Given the description of an element on the screen output the (x, y) to click on. 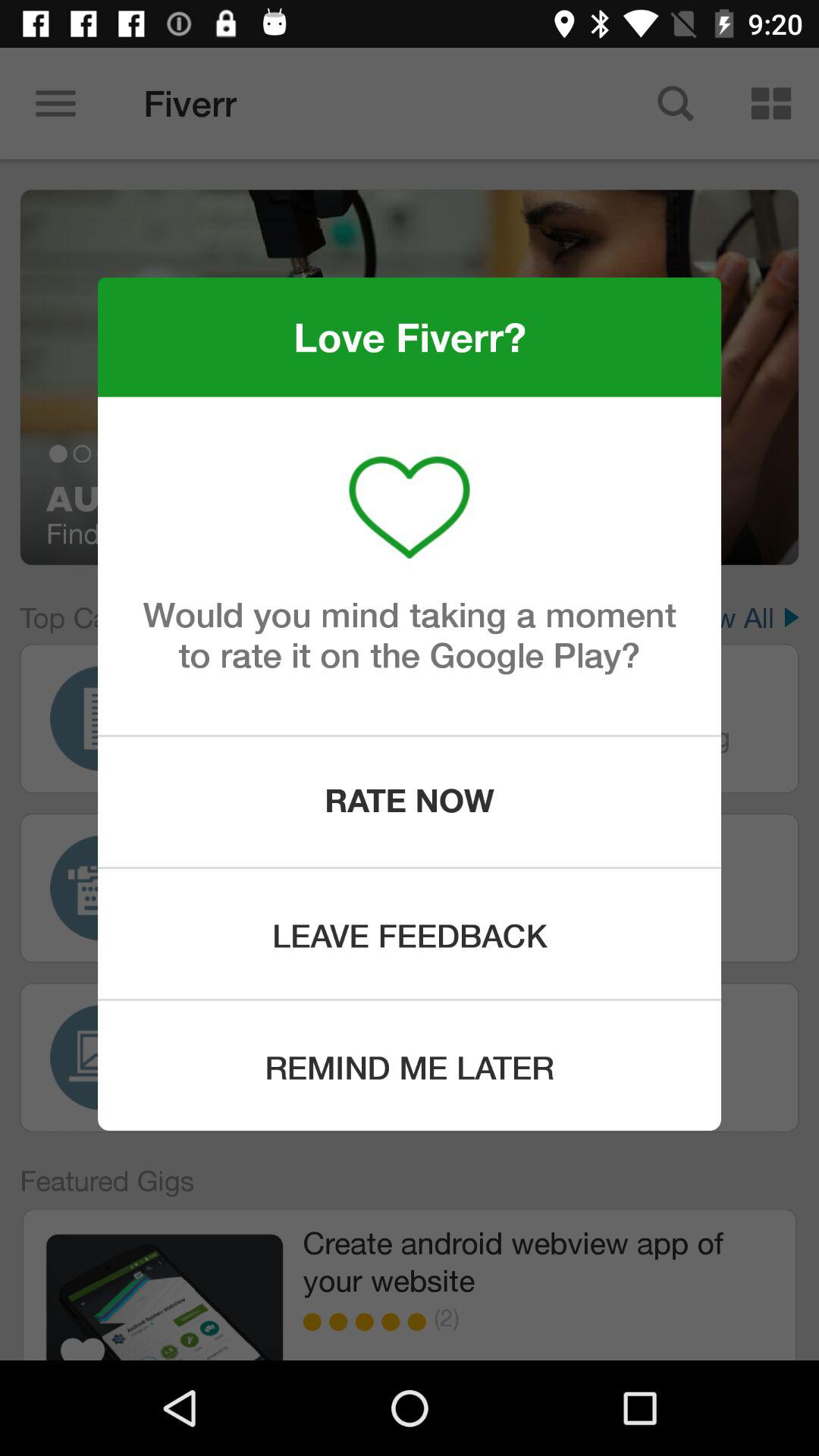
jump until remind me later icon (409, 1065)
